Given the description of an element on the screen output the (x, y) to click on. 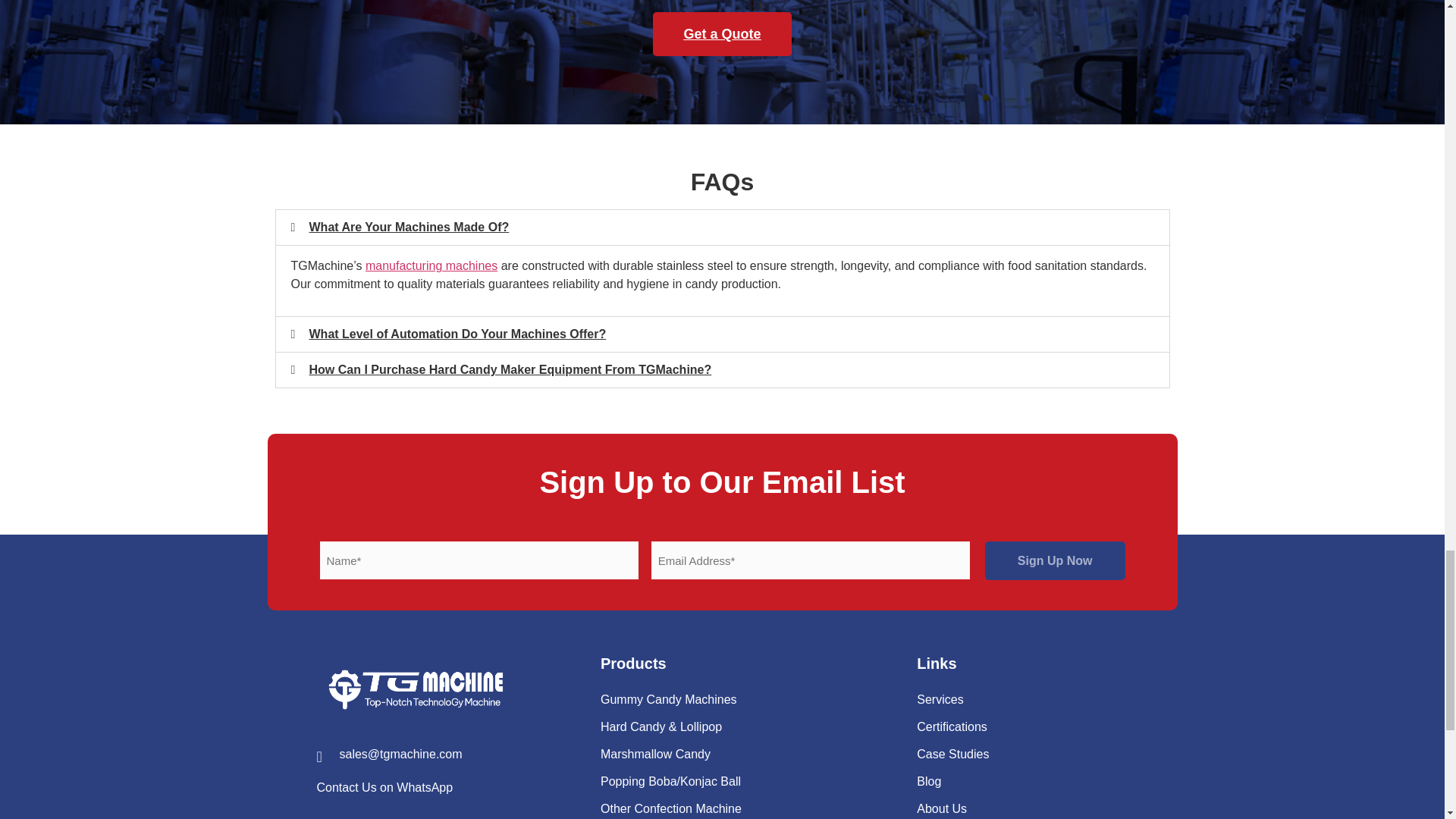
Sign Up Now (1054, 560)
